Given the description of an element on the screen output the (x, y) to click on. 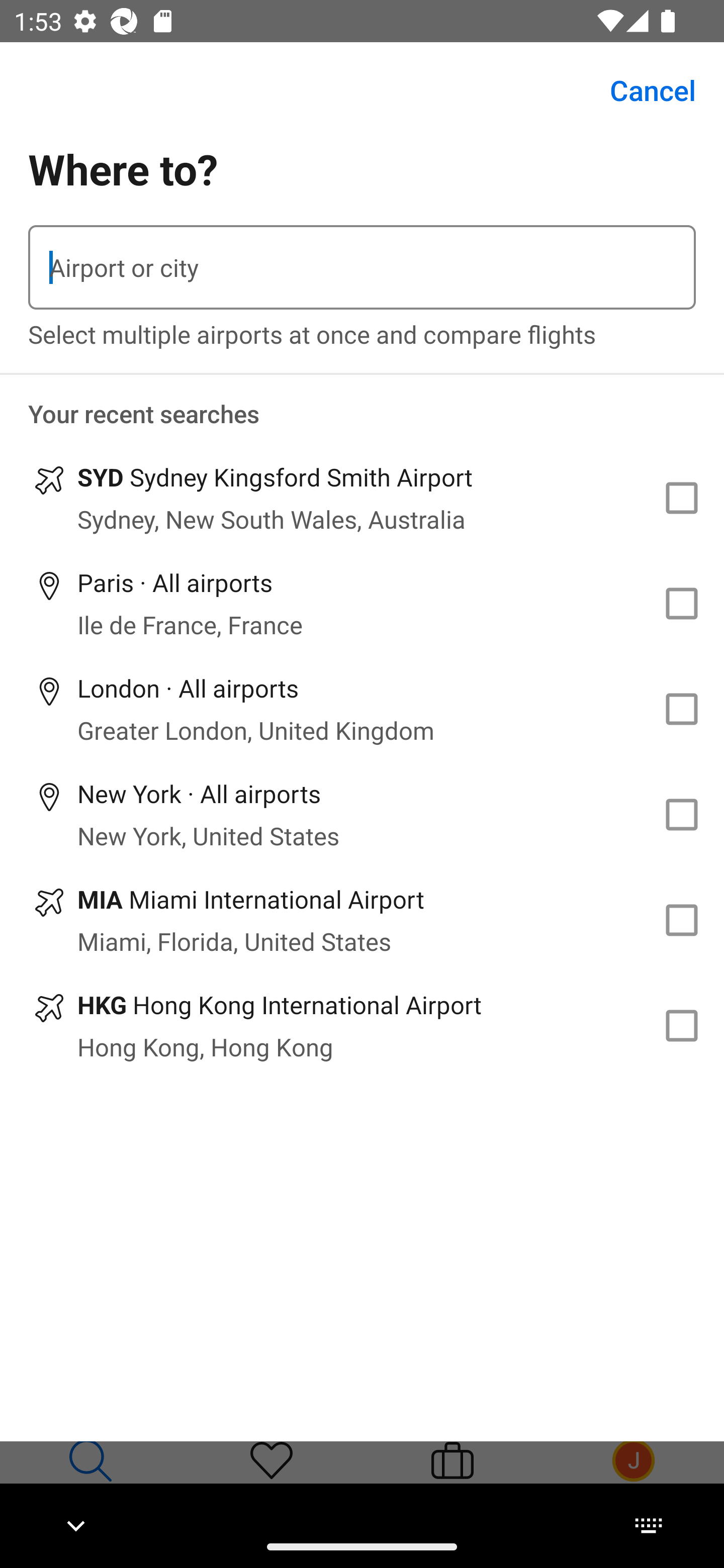
Cancel (641, 90)
Airport or city (361, 266)
Paris · All airports Ile de France, France (362, 603)
New York · All airports New York, United States (362, 814)
